Given the description of an element on the screen output the (x, y) to click on. 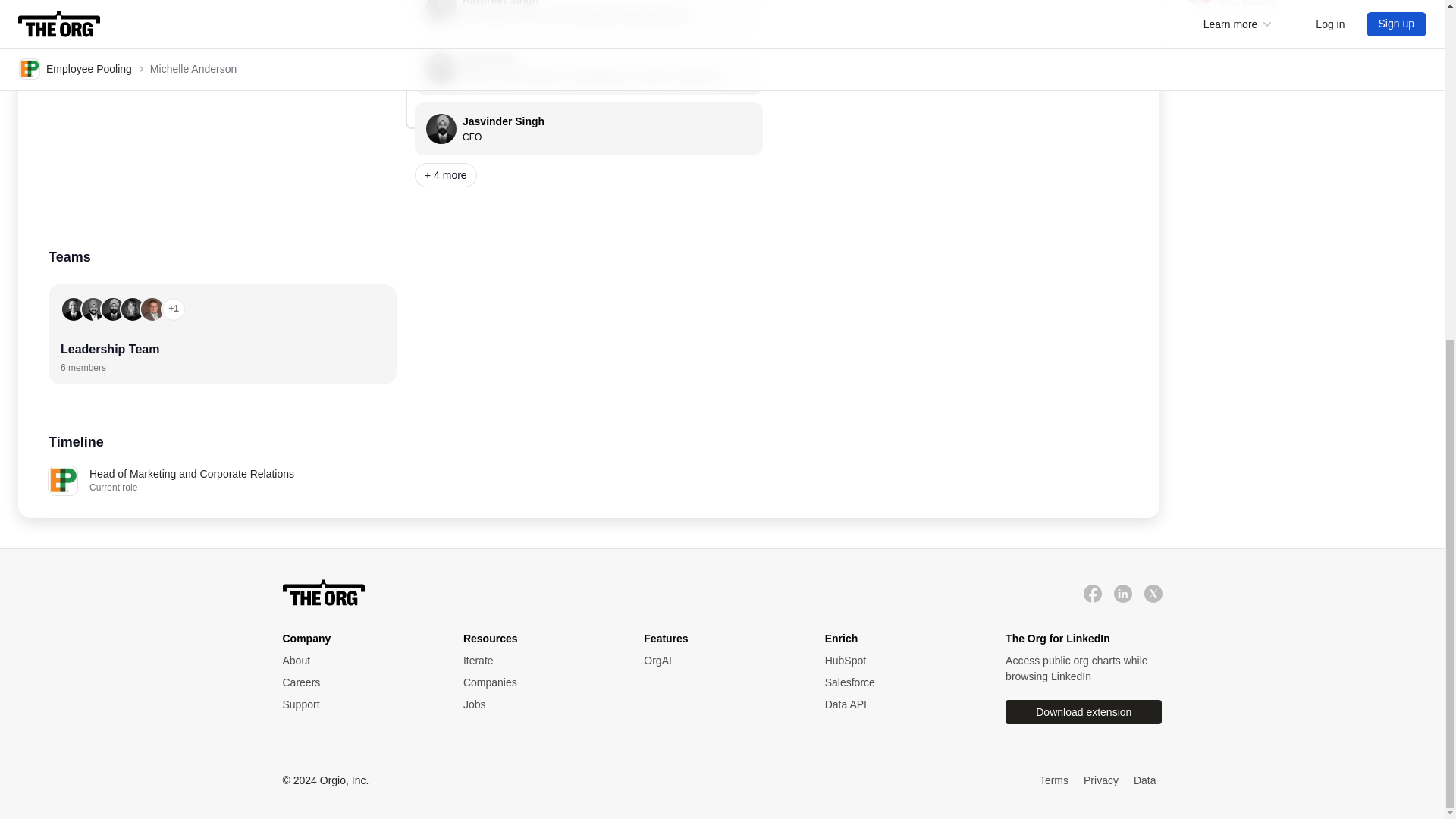
Data API (900, 704)
Download extension (1083, 711)
OrgAI (718, 660)
Salesforce (900, 682)
Salesforce (900, 682)
HubSpot (900, 660)
HubSpot (900, 660)
Jobs (537, 704)
OrgAI (718, 660)
Careers (357, 682)
Iterate (537, 660)
Privacy (1100, 780)
Data API (900, 704)
Iterate (537, 660)
